Given the description of an element on the screen output the (x, y) to click on. 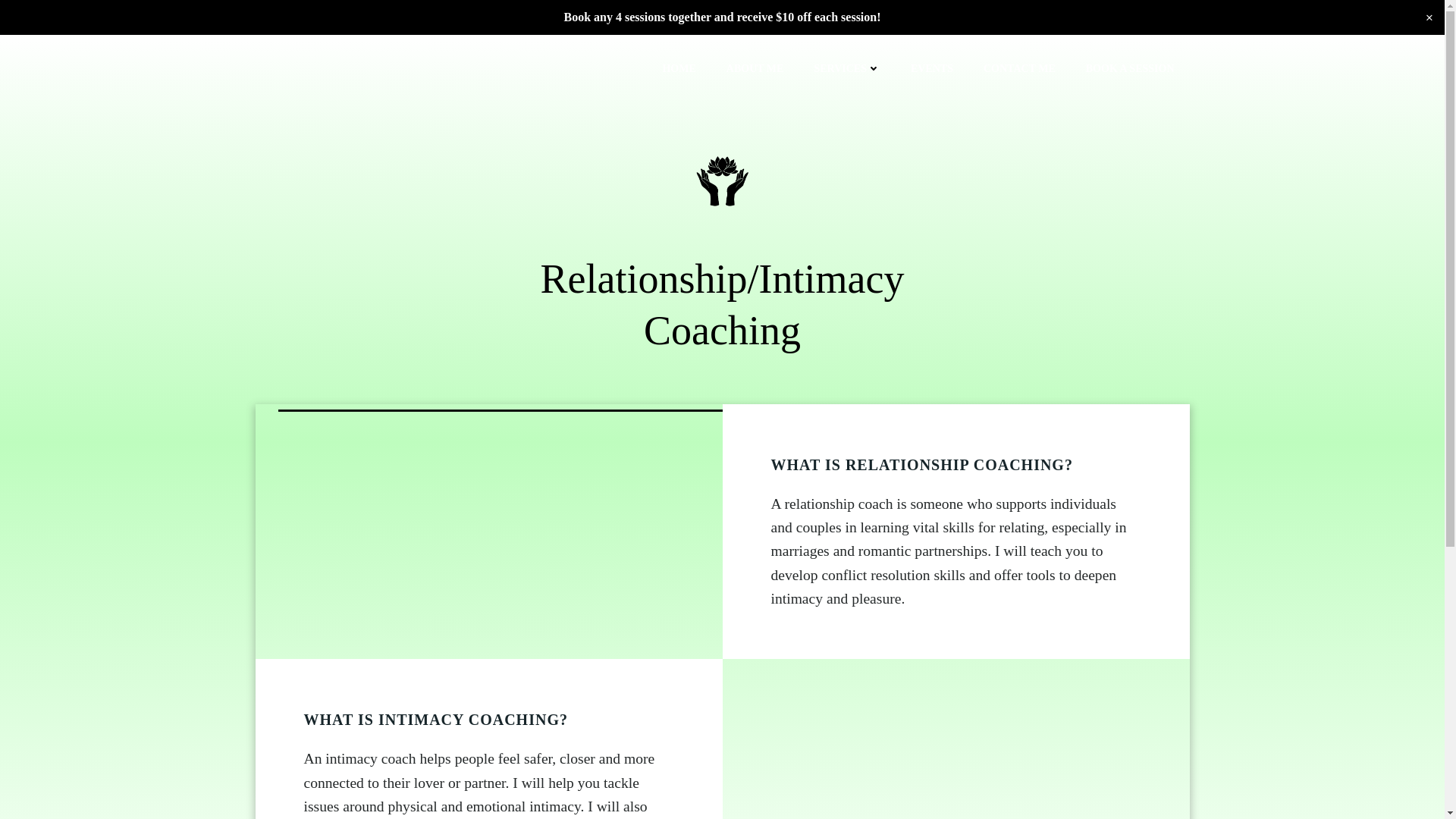
EVENTS (932, 68)
SERVICES (846, 68)
CONTACT ME (1019, 68)
BOOK A SESSION (1130, 68)
ABOUT ME (755, 68)
HOME (678, 68)
